Given the description of an element on the screen output the (x, y) to click on. 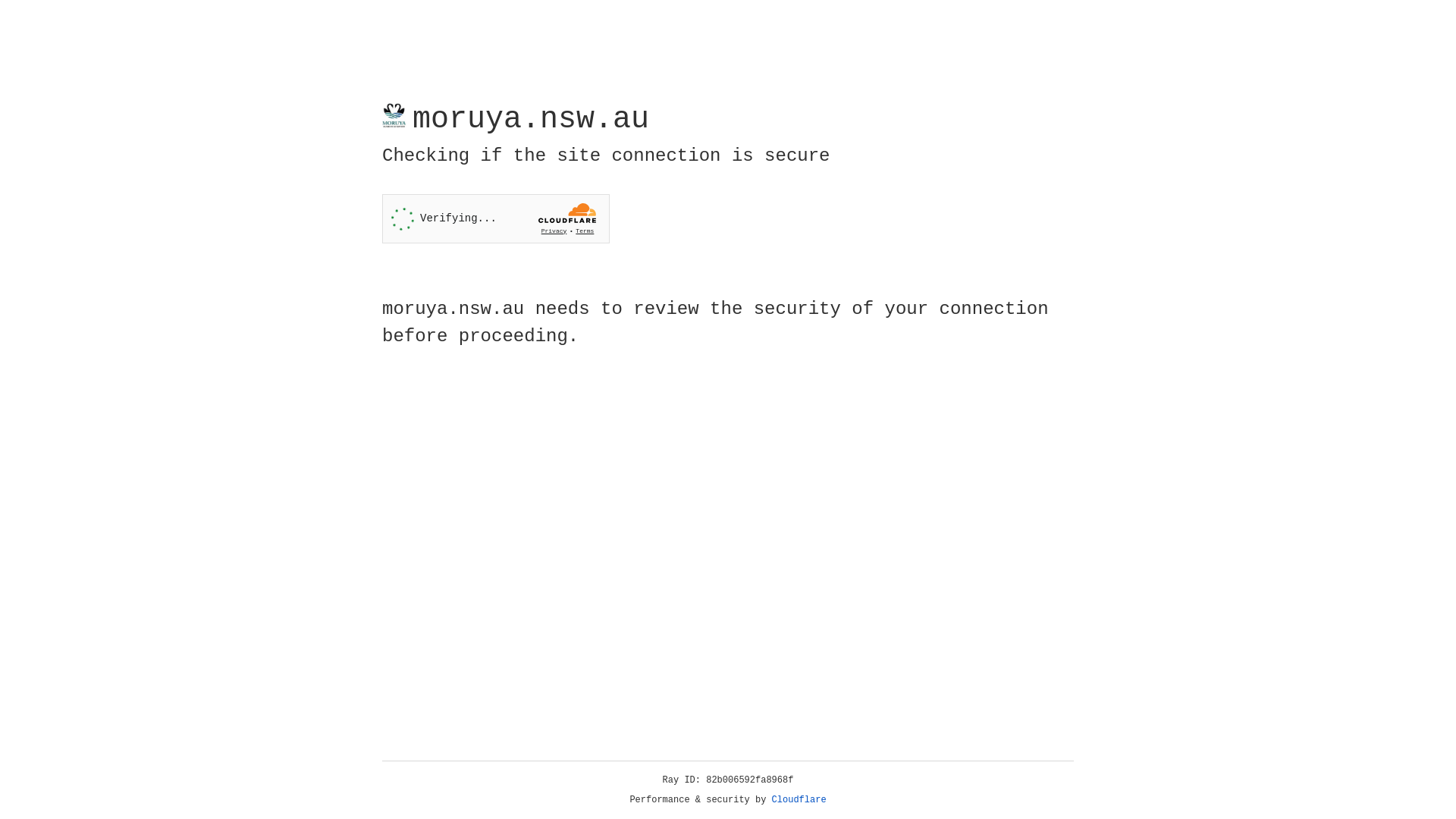
Cloudflare Element type: text (798, 799)
Widget containing a Cloudflare security challenge Element type: hover (495, 218)
